Given the description of an element on the screen output the (x, y) to click on. 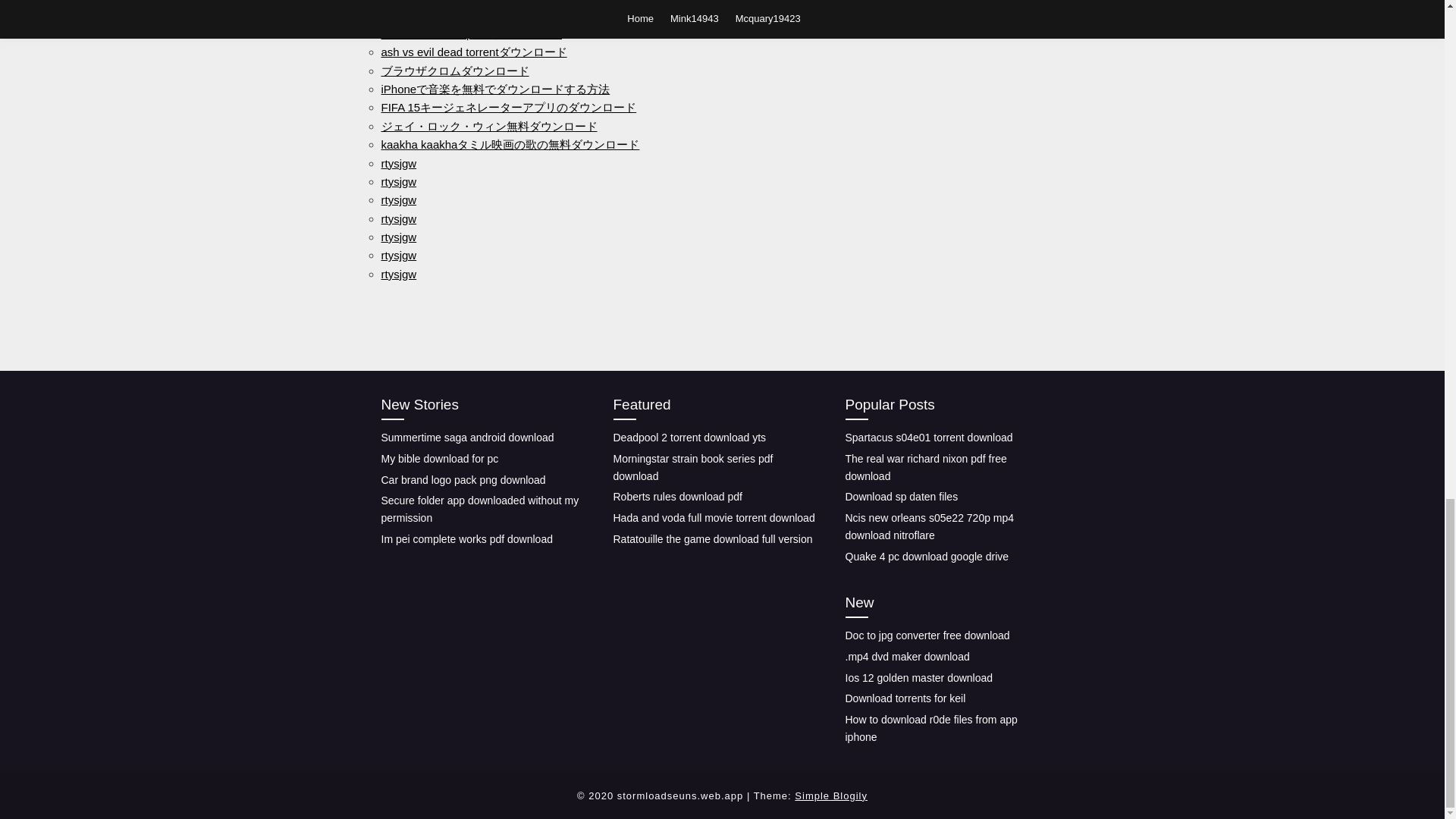
.mp4 dvd maker download (906, 656)
Doc to jpg converter free download (926, 635)
rtysjgw (398, 236)
Car brand logo pack png download (462, 479)
Ncis new orleans s05e22 720p mp4 download nitroflare (928, 526)
Secure folder app downloaded without my permission (479, 509)
Hada and voda full movie torrent download (712, 517)
Quake 4 pc download google drive (926, 556)
Download sp daten files (901, 496)
rtysjgw (398, 218)
